Given the description of an element on the screen output the (x, y) to click on. 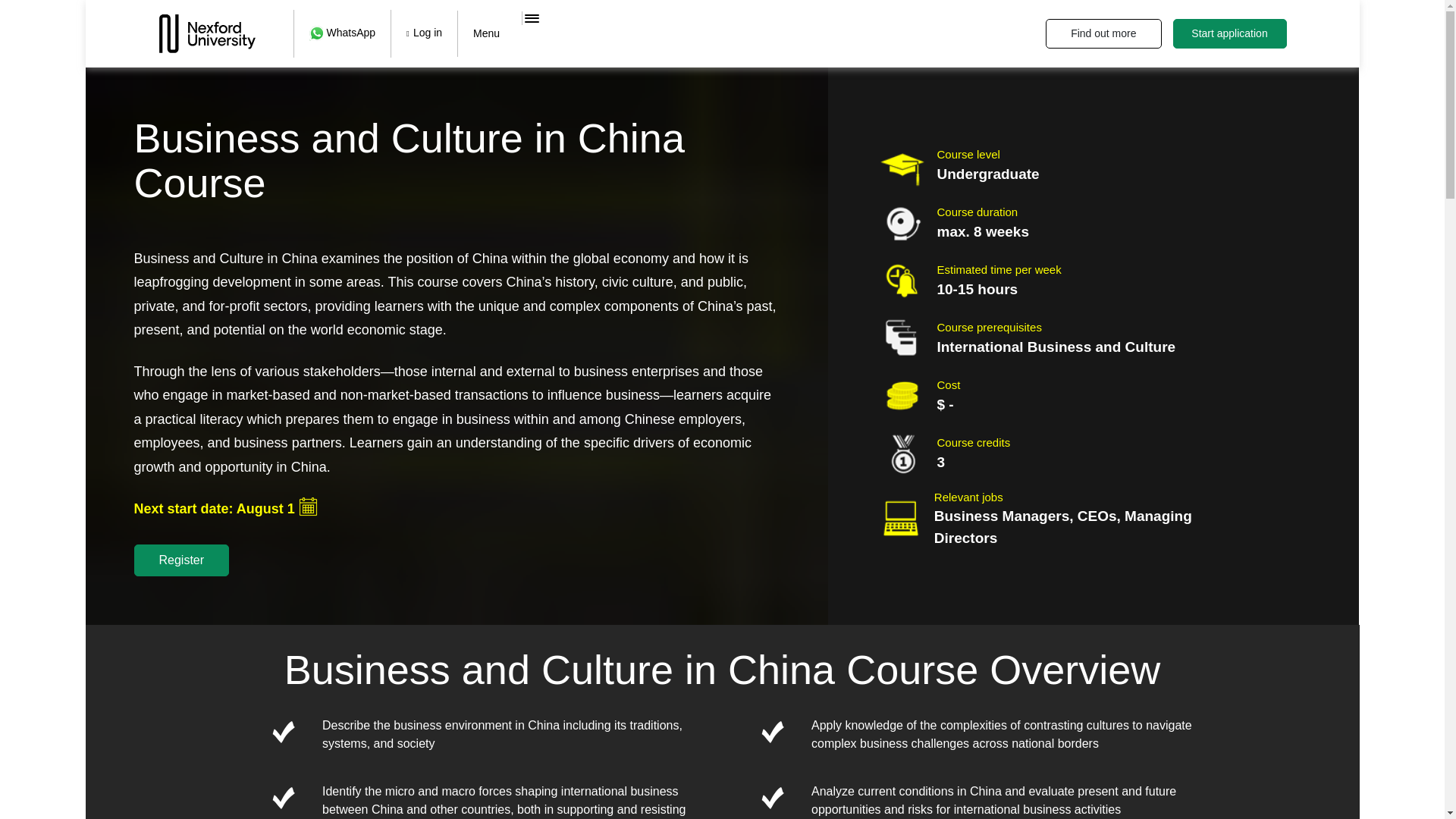
Log in (423, 32)
Find out more (1102, 33)
Start application (1228, 33)
Menu (486, 33)
WhatsApp (341, 32)
